Given the description of an element on the screen output the (x, y) to click on. 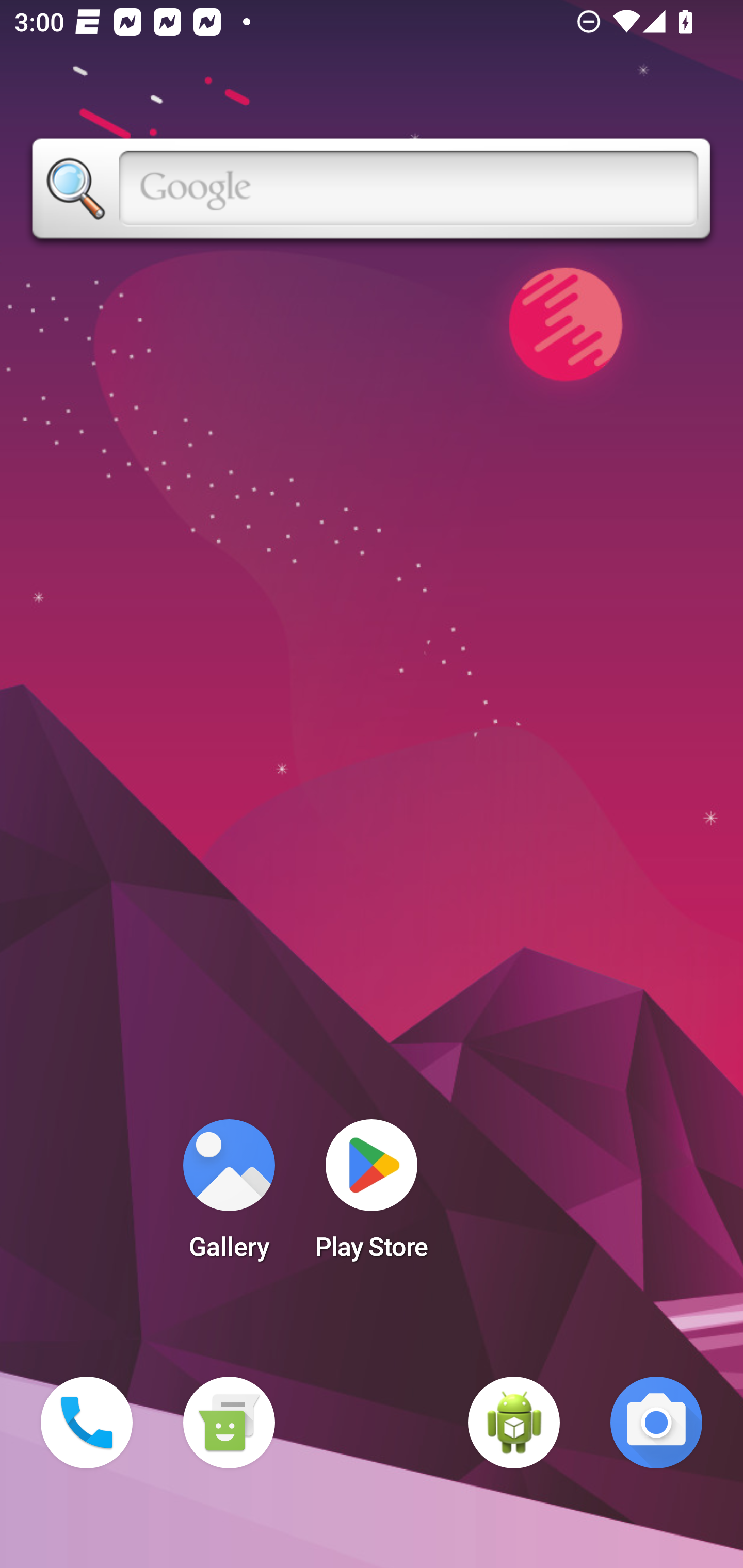
Gallery (228, 1195)
Play Store (371, 1195)
Phone (86, 1422)
Messaging (228, 1422)
WebView Browser Tester (513, 1422)
Camera (656, 1422)
